Given the description of an element on the screen output the (x, y) to click on. 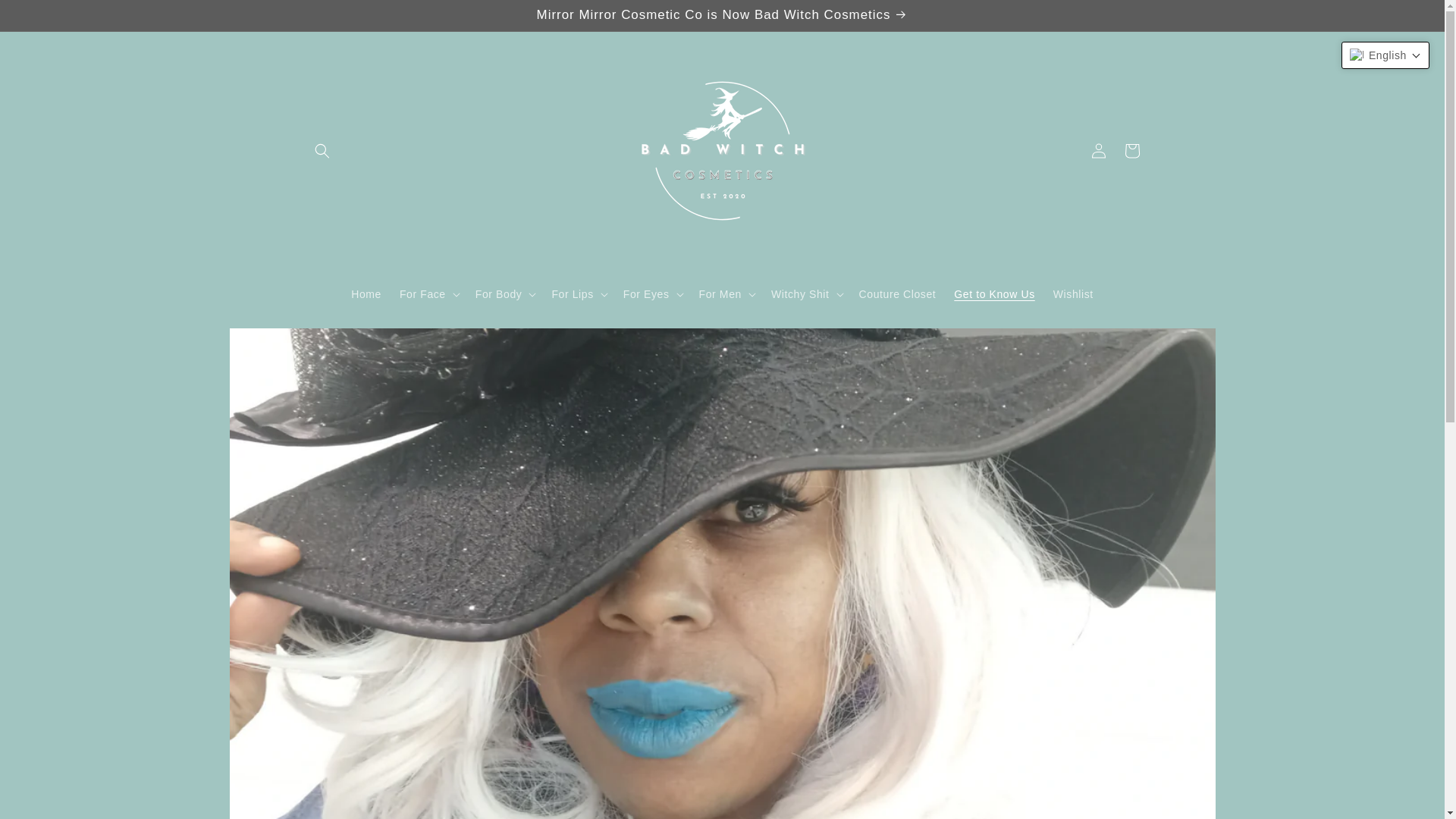
Skip to content (45, 17)
